Given the description of an element on the screen output the (x, y) to click on. 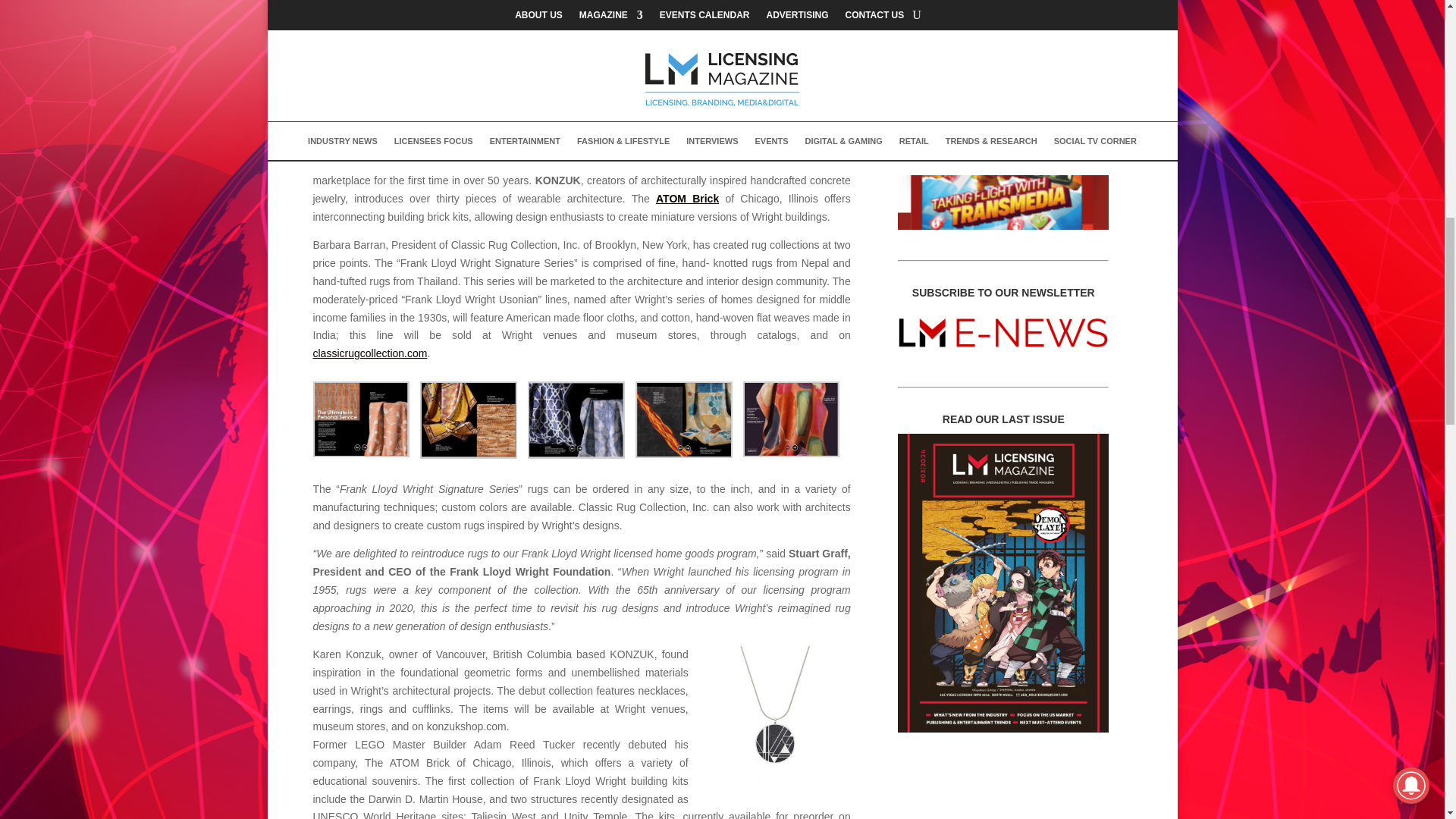
Subscribe to our newsletter (1003, 331)
Page 2 (581, 777)
Page 1 (581, 96)
